Given the description of an element on the screen output the (x, y) to click on. 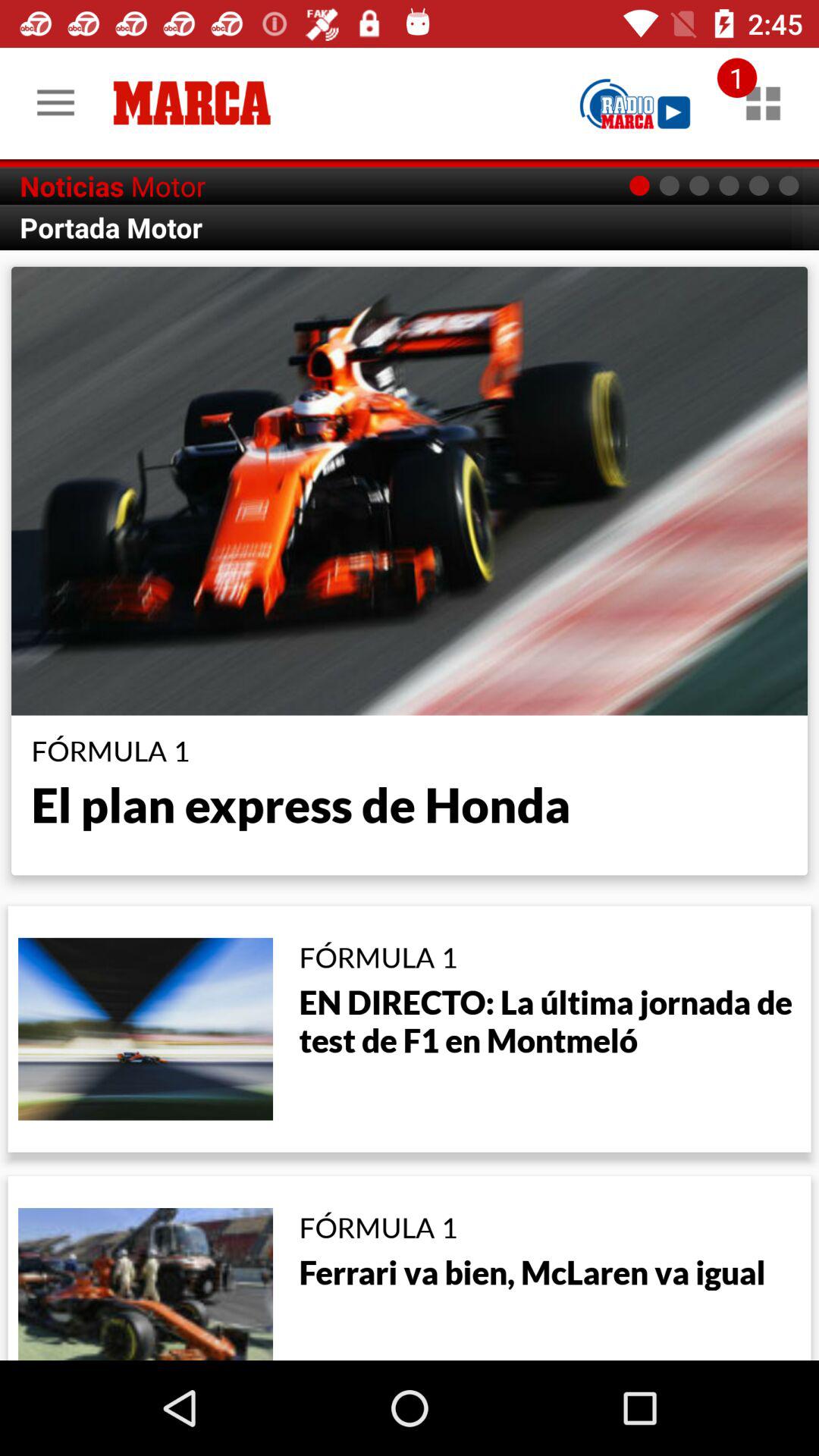
go to video (635, 103)
